Given the description of an element on the screen output the (x, y) to click on. 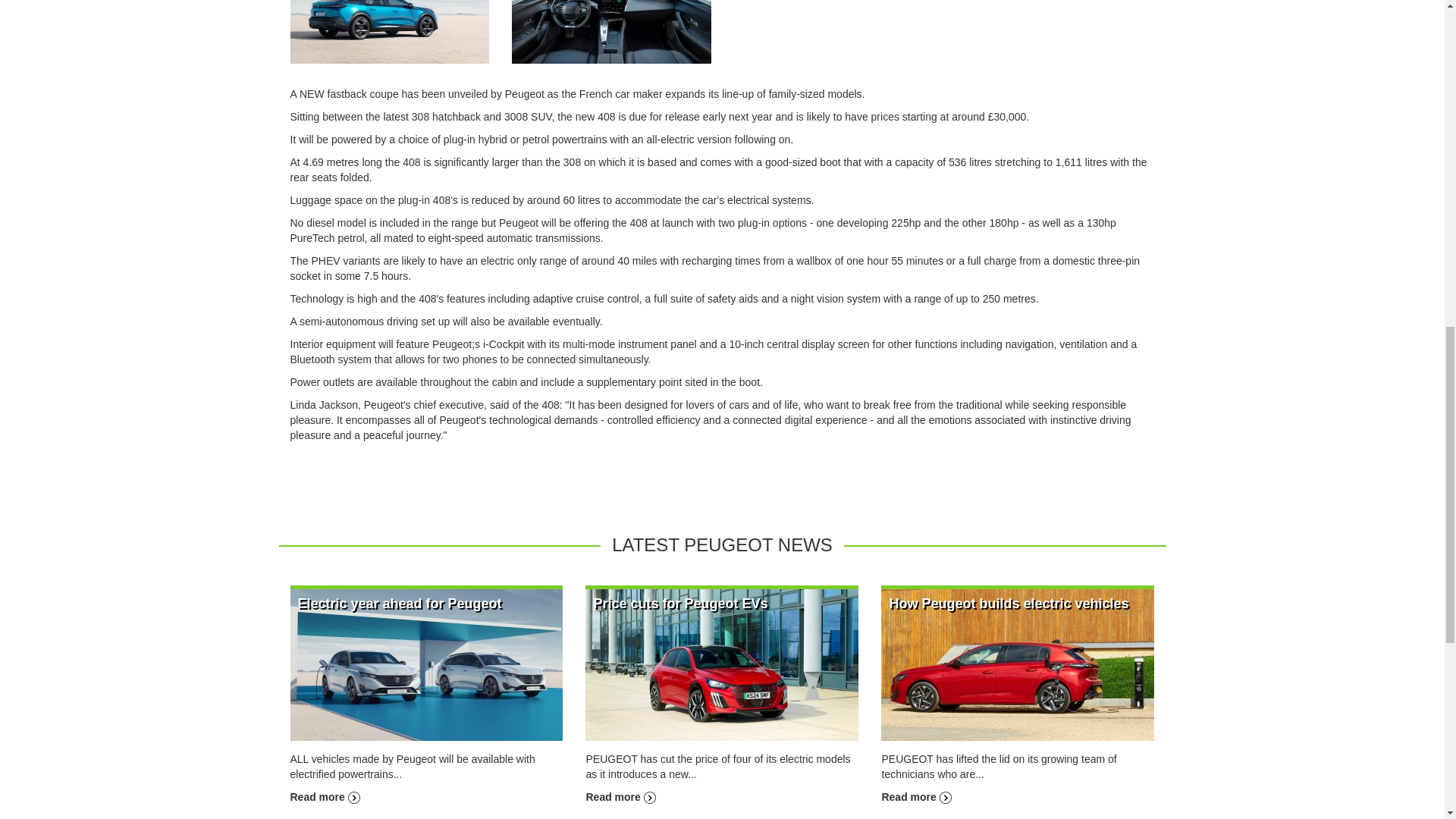
Price cuts for Peugeot EVs (620, 797)
Read more (620, 797)
How Peugeot builds electric vehicles (1017, 664)
Peugeot 408, 2022, rear (389, 2)
Price cuts for Peugeot EVs (679, 603)
How Peugeot builds electric vehicles (1008, 603)
Electric year ahead for Peugeot (398, 603)
Price cuts for Peugeot EVs (679, 603)
Read more (915, 797)
Electric year ahead for Peugeot (425, 664)
How Peugeot builds electric vehicles (915, 797)
Read more (324, 797)
Electric year ahead for Peugeot (398, 603)
Peugeot 408, 2022, interior (611, 2)
Electric year ahead for Peugeot (324, 797)
